Given the description of an element on the screen output the (x, y) to click on. 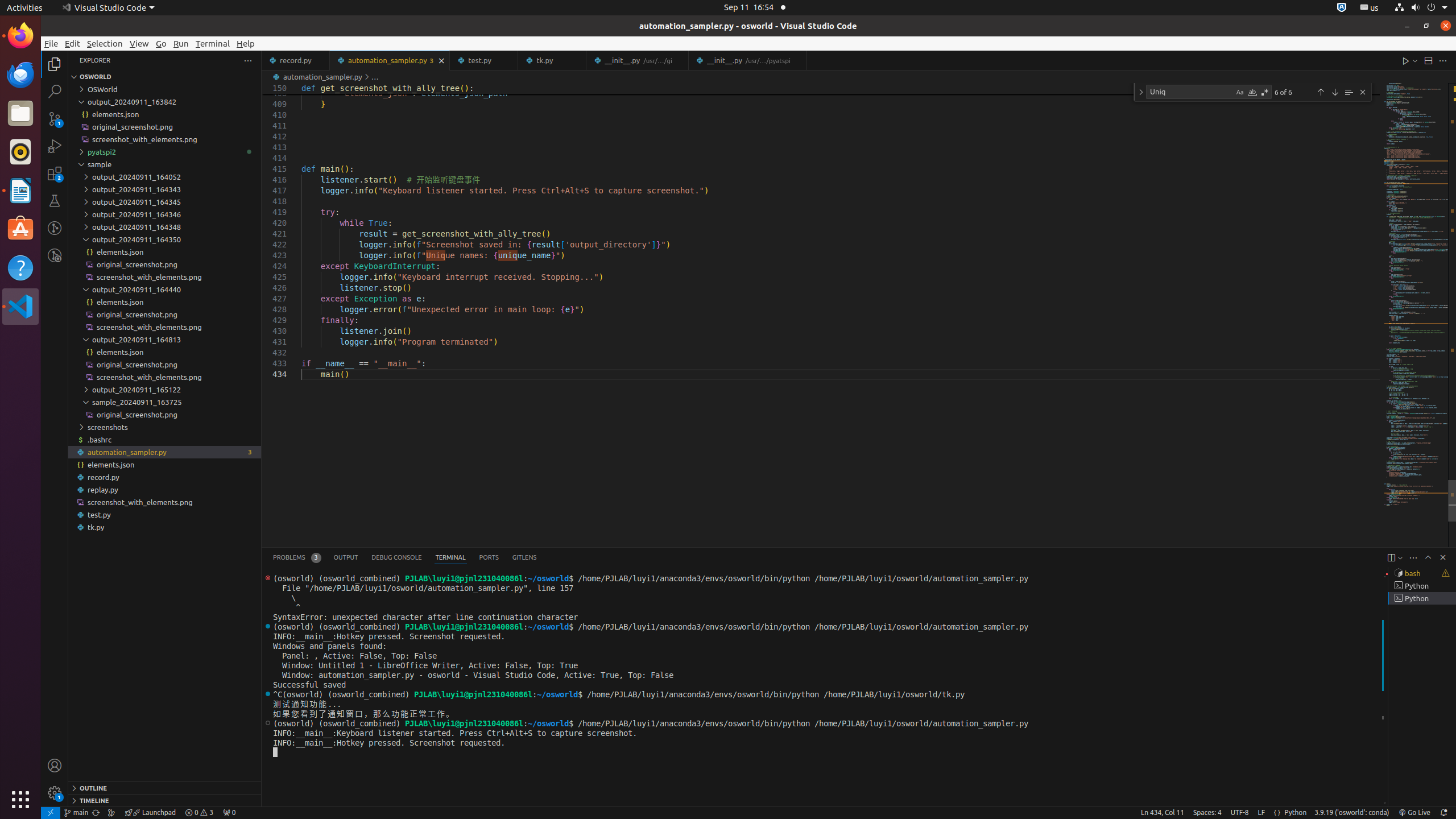
View Element type: push-button (139, 43)
Run Element type: push-button (181, 43)
Manage - New Code update available. Element type: push-button (54, 792)
output_20240911_164440 Element type: tree-item (164, 289)
Terminal (Ctrl+`) Element type: page-tab (450, 557)
